Given the description of an element on the screen output the (x, y) to click on. 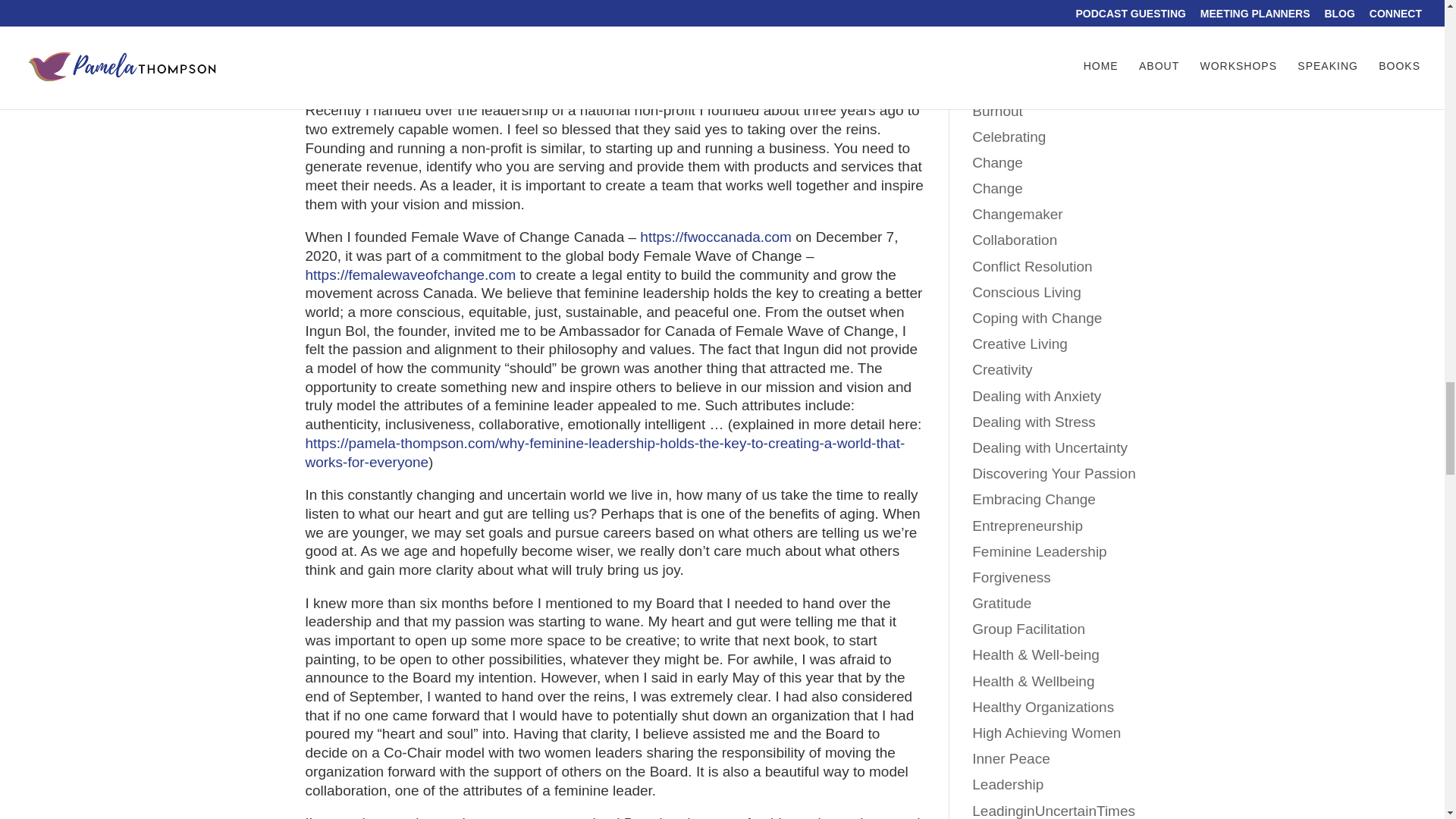
LeadinginUncertainTimes (664, 10)
pam (331, 10)
Feminine Leadership (539, 10)
Posts by pam (331, 10)
Celebrating (451, 10)
